Given the description of an element on the screen output the (x, y) to click on. 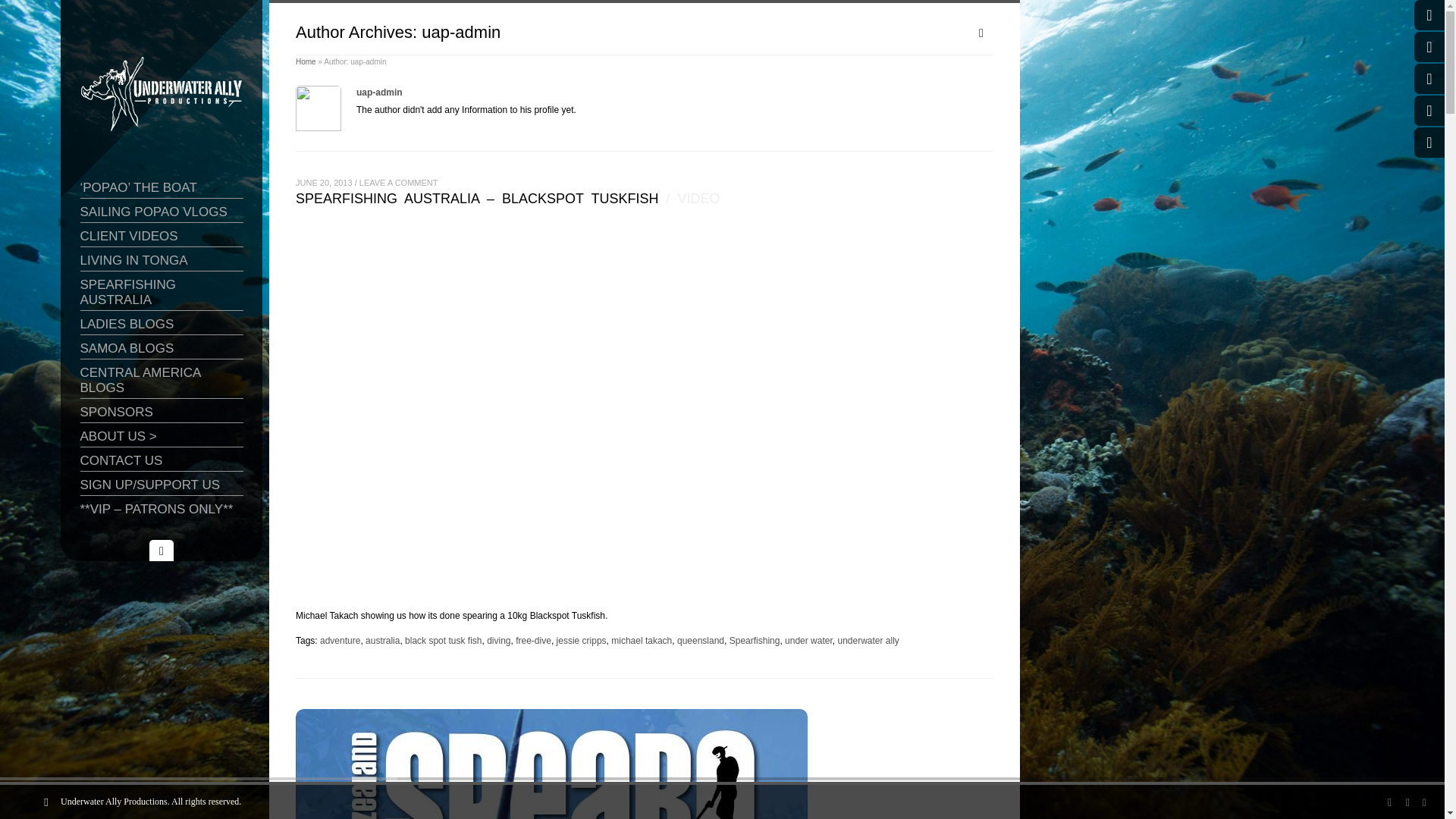
SAMOA BLOGS (161, 348)
SPONSORS (161, 412)
LADIES BLOGS (161, 324)
SAILING POPAO VLOGS (161, 212)
CENTRAL AMERICA BLOGS (161, 380)
Michael Takach NZ Spearo Cover Shot (643, 764)
LIVING IN TONGA (161, 260)
SPEARFISHING AUSTRALIA (161, 292)
CLIENT VIDEOS (161, 236)
